Given the description of an element on the screen output the (x, y) to click on. 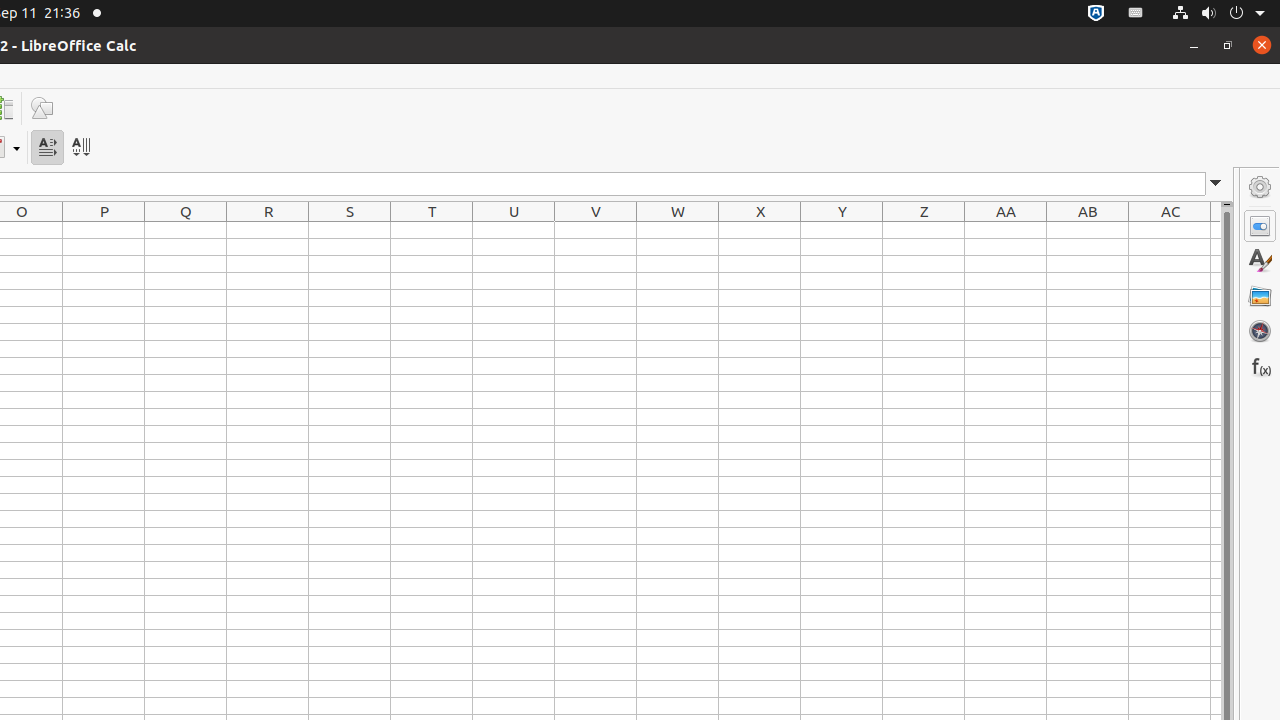
U1 Element type: table-cell (514, 230)
AD1 Element type: table-cell (1216, 230)
